Given the description of an element on the screen output the (x, y) to click on. 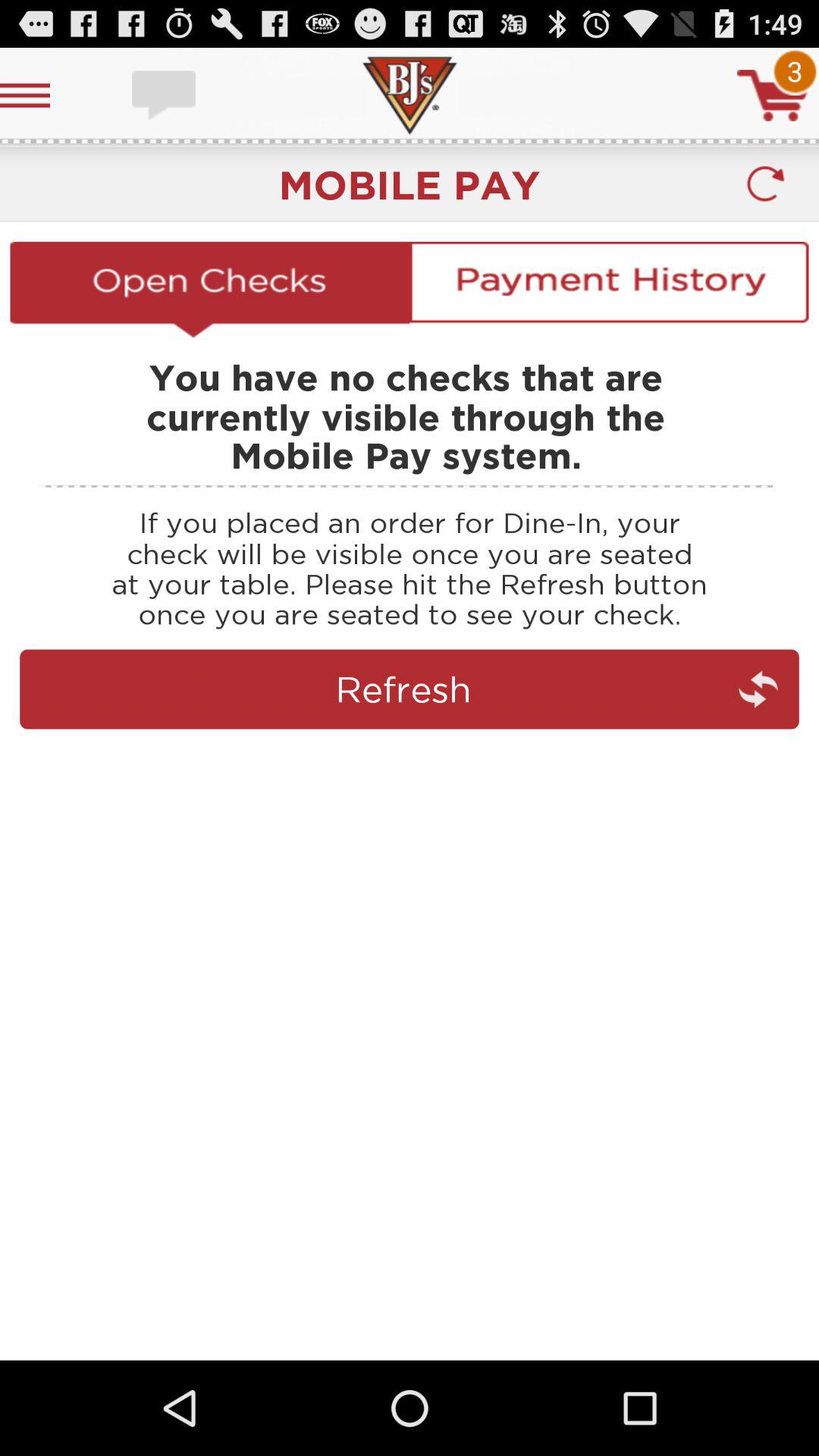
open checks (209, 289)
